Given the description of an element on the screen output the (x, y) to click on. 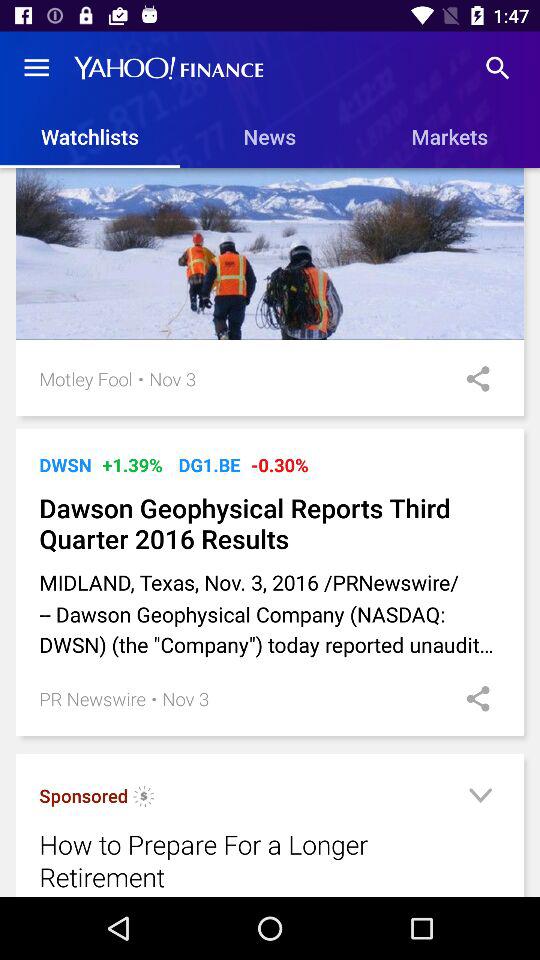
more option (480, 798)
